Given the description of an element on the screen output the (x, y) to click on. 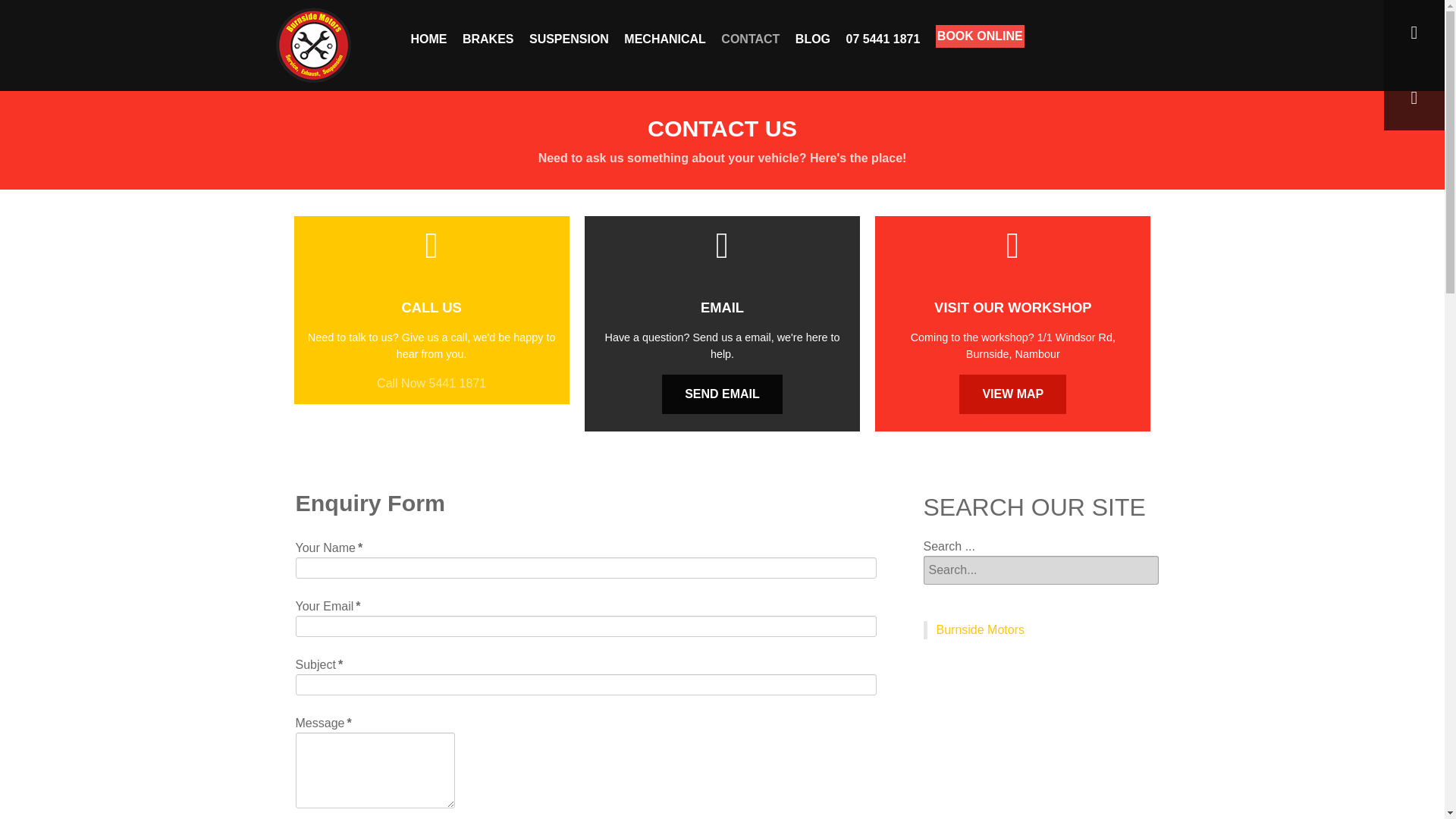
BLOG (811, 39)
SEND EMAIL (722, 394)
MECHANICAL (665, 39)
VIEW MAP (1012, 394)
HOME (428, 39)
07 5441 1871 (882, 39)
SUSPENSION (568, 39)
Call Now 5441 1871 (431, 382)
BOOK ONLINE (980, 36)
CONTACT (749, 39)
Burnside Motors (980, 629)
BRAKES (488, 39)
